Given the description of an element on the screen output the (x, y) to click on. 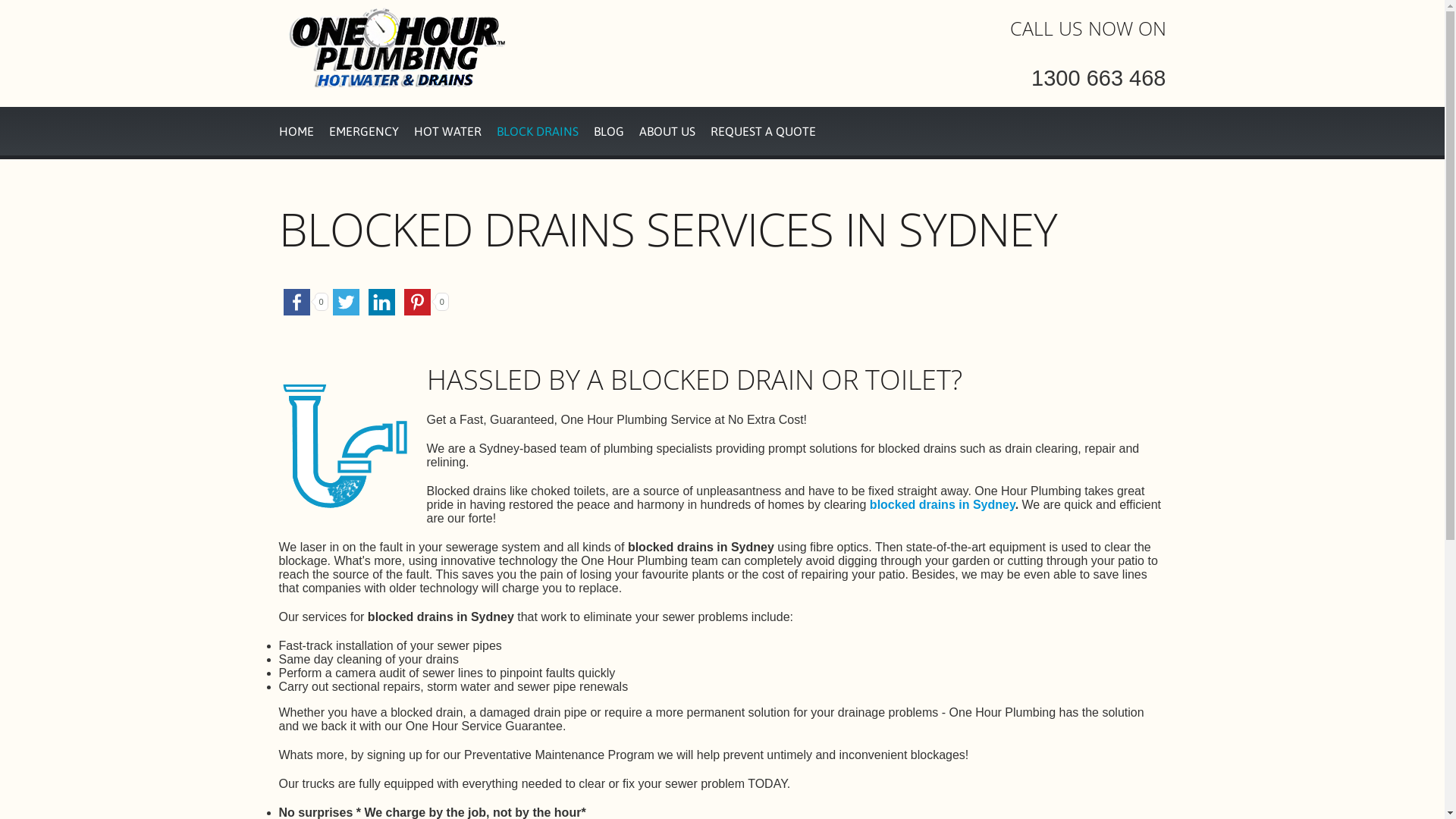
EMERGENCY Element type: text (363, 131)
LinkedIn Element type: hover (381, 302)
HOME Element type: text (296, 131)
Pinterest Element type: hover (417, 302)
HOT WATER Element type: text (447, 131)
BLOCK DRAINS Element type: text (536, 131)
Facebook Element type: hover (296, 302)
REQUEST A QUOTE Element type: text (762, 131)
BLOG Element type: text (608, 131)
blocked drains in Sydney Element type: text (942, 503)
ABOUT US Element type: text (666, 131)
Twitter Element type: hover (346, 302)
1300 663 468 Element type: text (1098, 77)
